Given the description of an element on the screen output the (x, y) to click on. 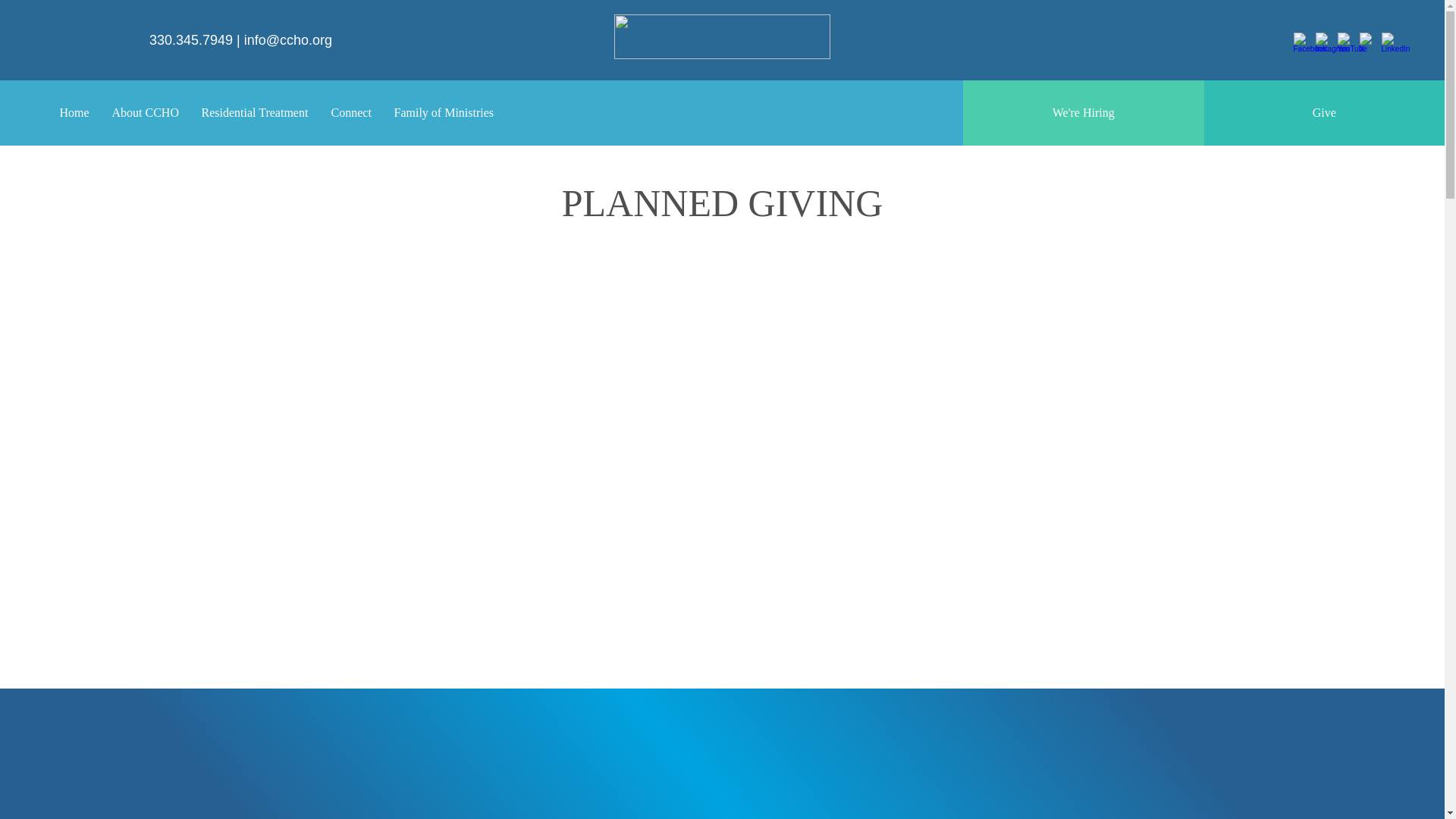
Residential Treatment (253, 112)
330.345.7949 (190, 39)
Home (74, 112)
Family of Ministries (443, 112)
About CCHO (144, 112)
We're Hiring (1083, 112)
Connect (351, 112)
